Given the description of an element on the screen output the (x, y) to click on. 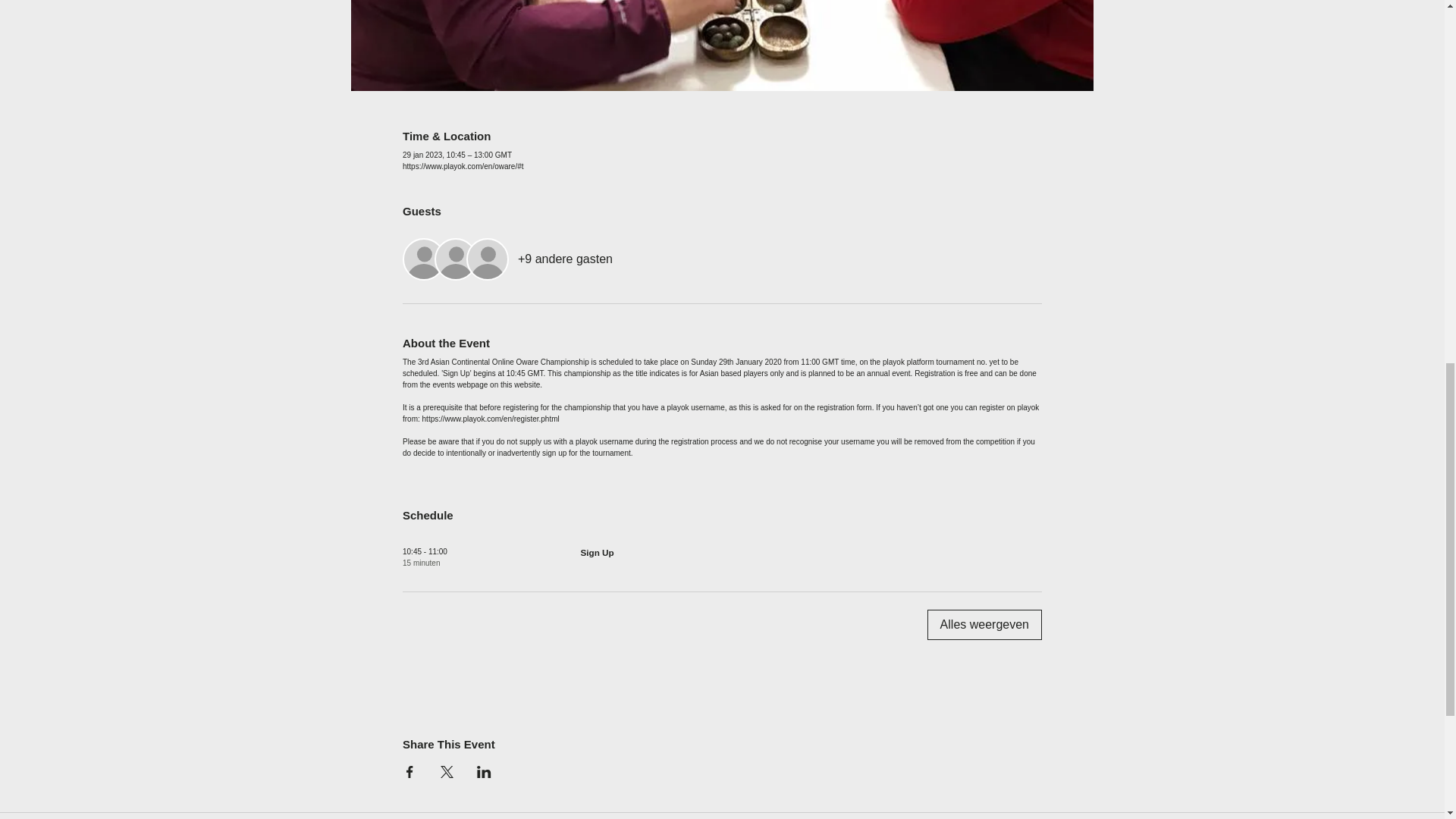
Alles weergeven (984, 624)
playok (893, 361)
